Given the description of an element on the screen output the (x, y) to click on. 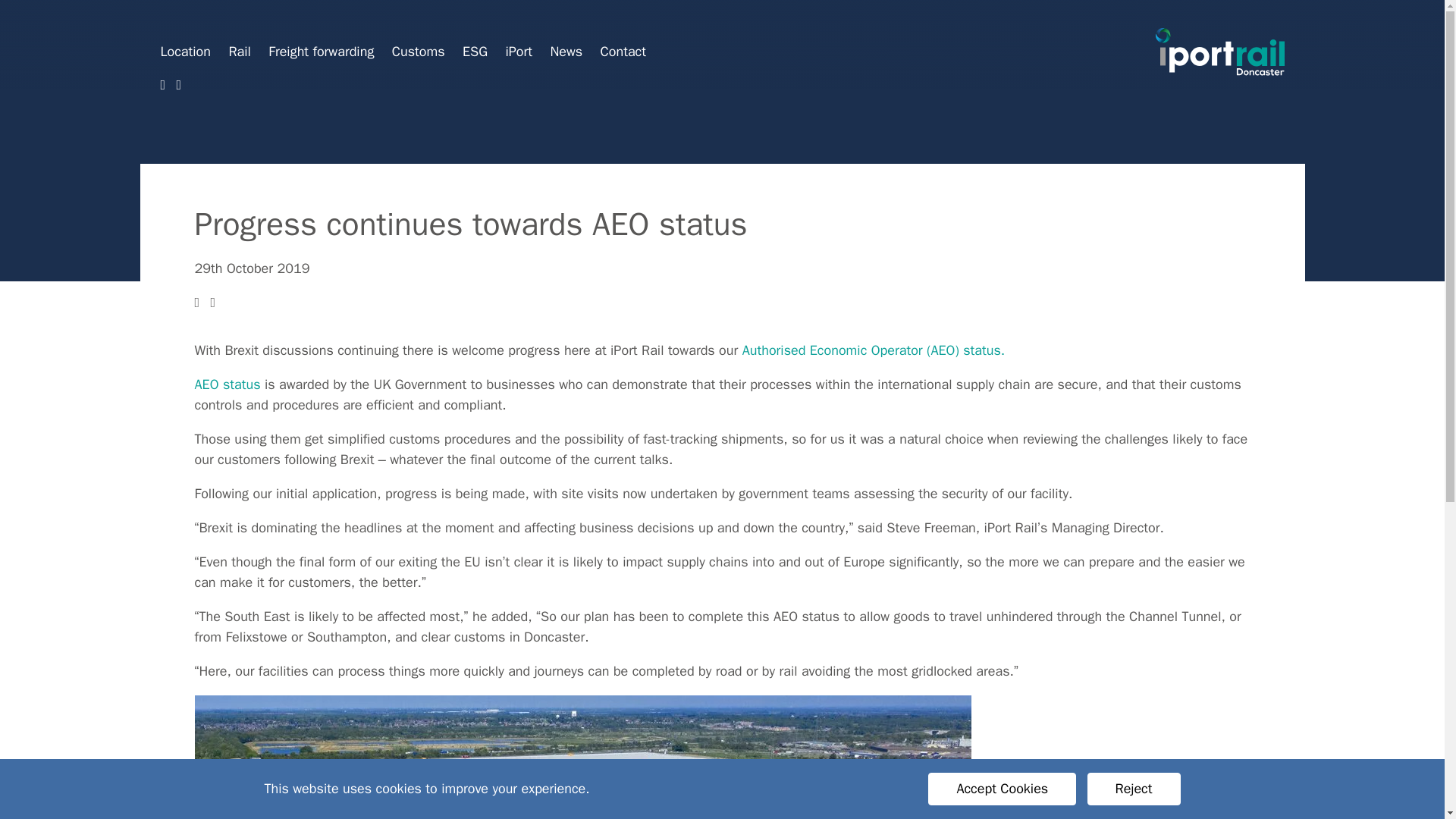
News (568, 51)
Customs (419, 51)
AEO status (226, 384)
Rail (241, 51)
Freight forwarding (322, 51)
Location (187, 51)
ESG (477, 51)
Accept Cookies (1001, 789)
Progress continues towards AEO status 1 (582, 757)
Contact (622, 51)
